Given the description of an element on the screen output the (x, y) to click on. 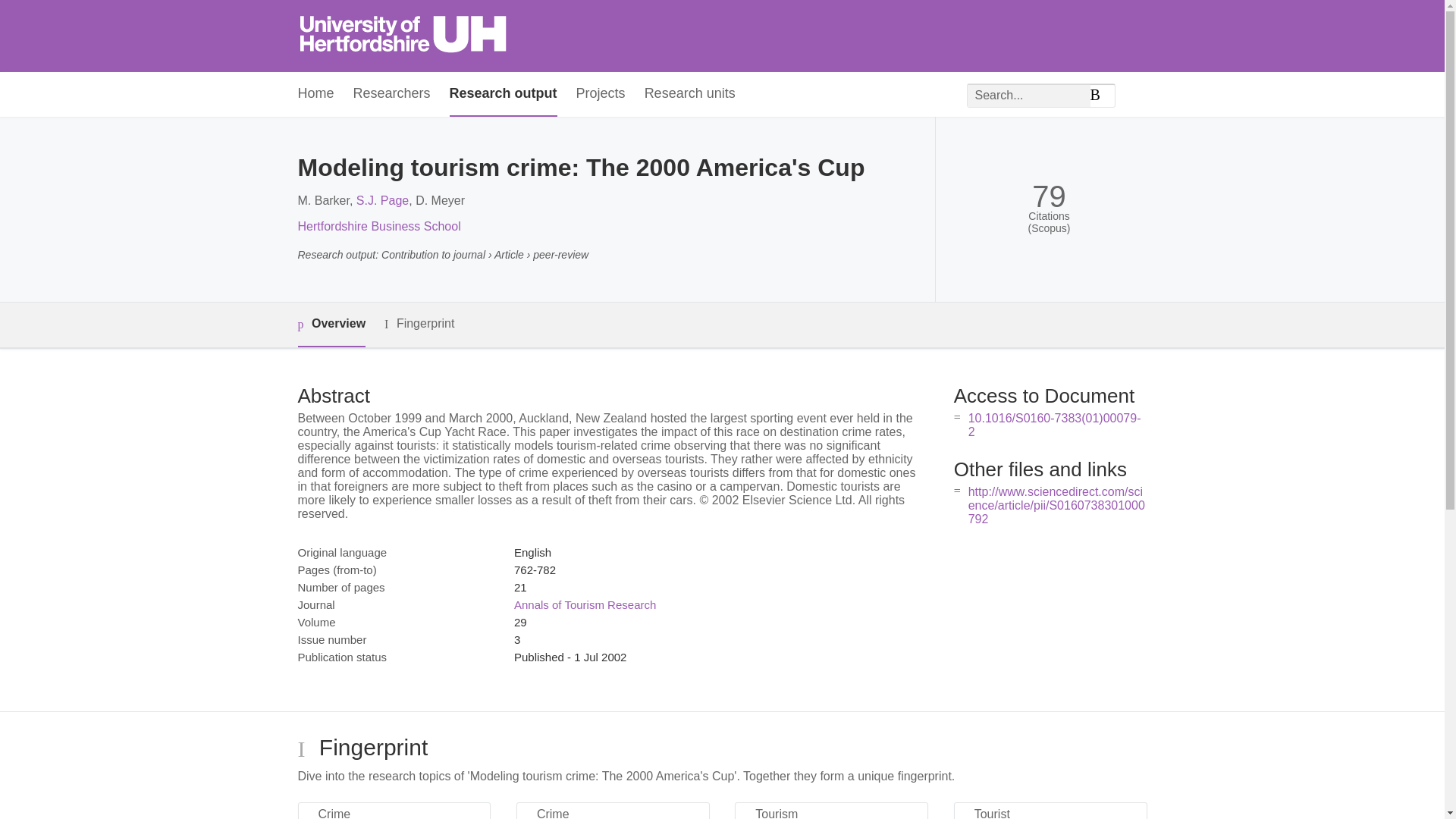
Overview (331, 324)
Fingerprint (419, 323)
S.J. Page (382, 200)
Projects (601, 94)
Hertfordshire Business School (378, 226)
Researchers (391, 94)
Annals of Tourism Research (584, 604)
Research units (690, 94)
Research output (503, 94)
